Given the description of an element on the screen output the (x, y) to click on. 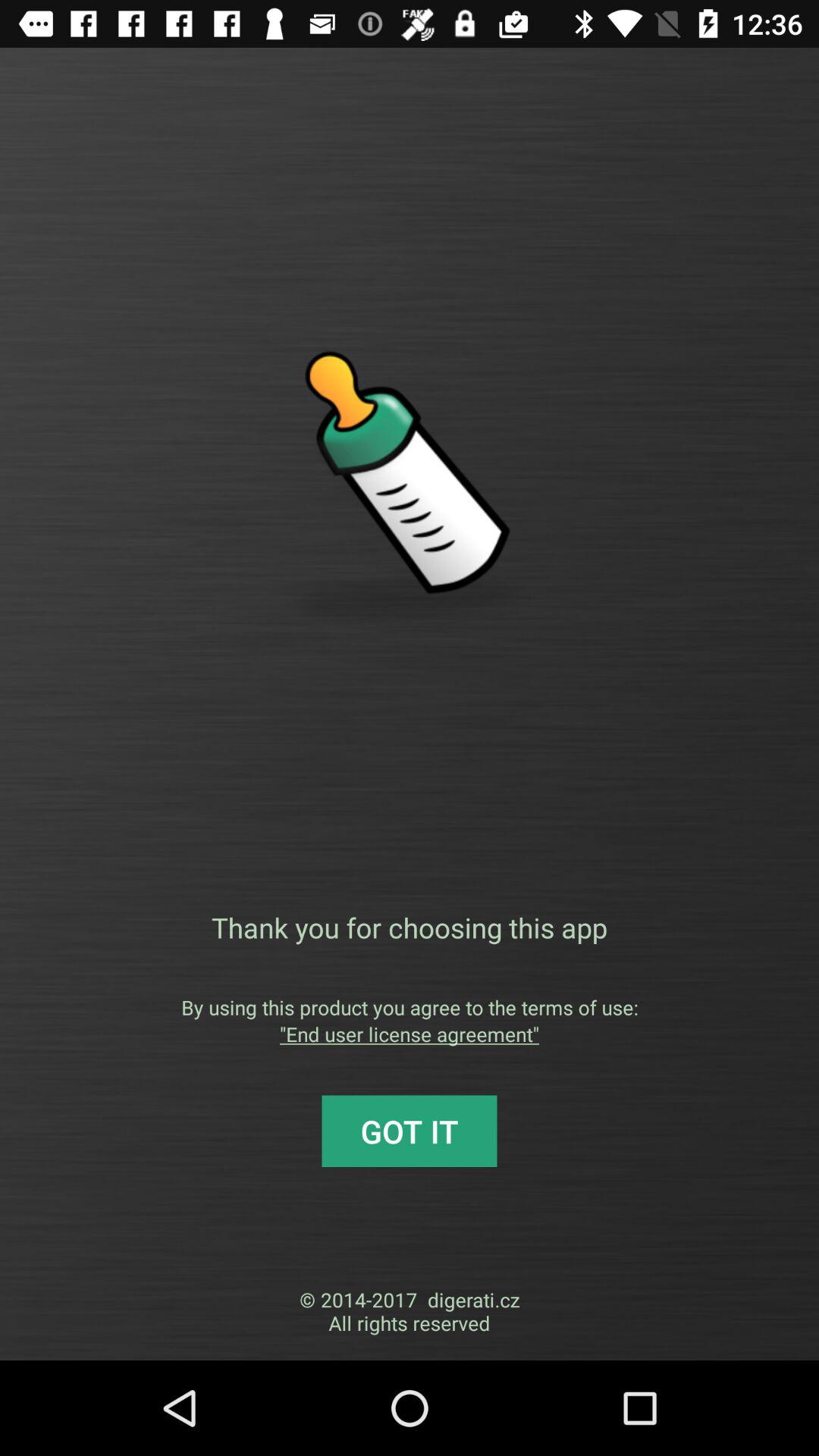
choose the 2014 2017 digerati (409, 1311)
